Given the description of an element on the screen output the (x, y) to click on. 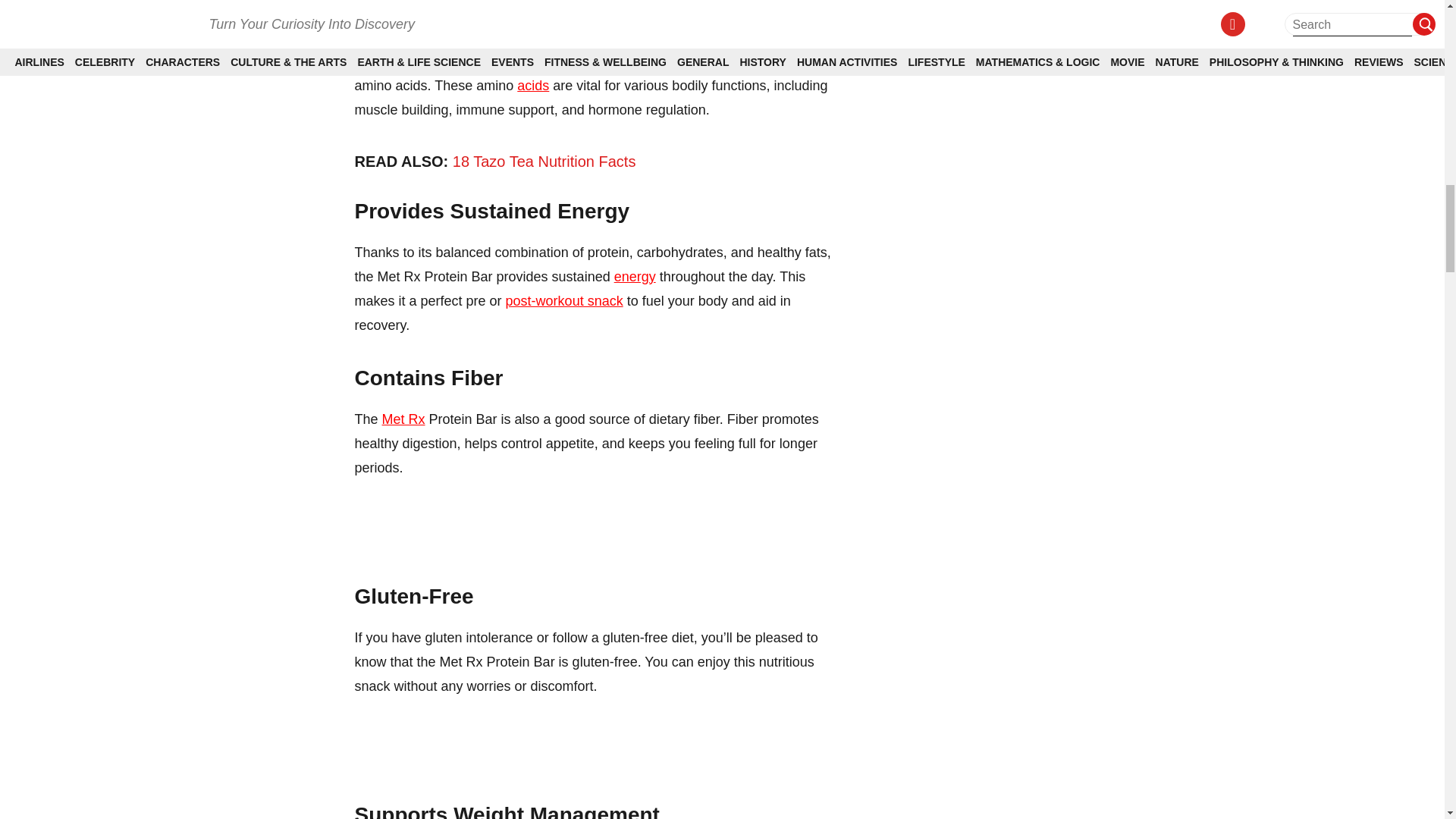
Met Rx (403, 418)
post-workout snack (564, 300)
Protein (450, 61)
energy (635, 276)
acids (532, 85)
